Given the description of an element on the screen output the (x, y) to click on. 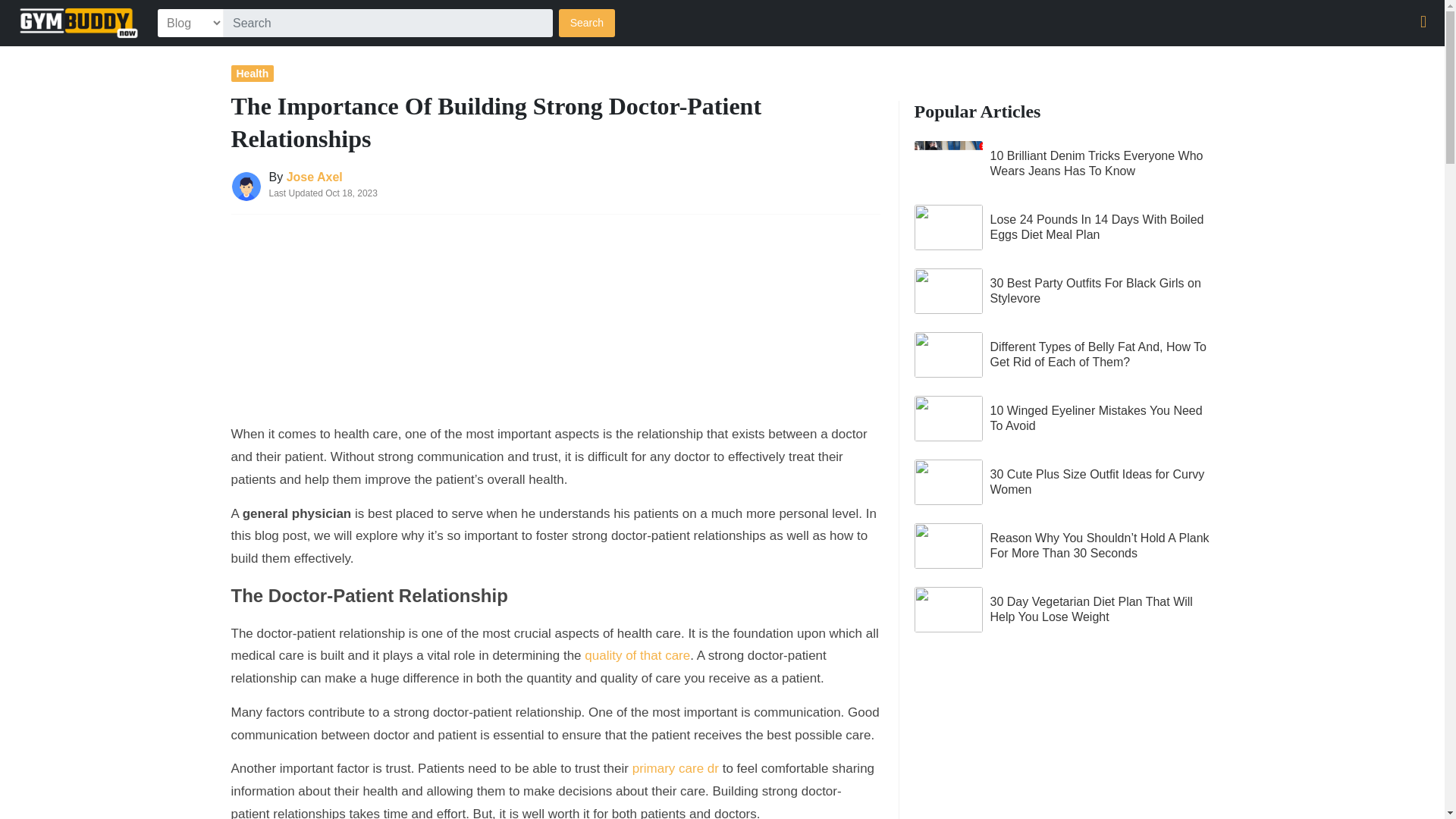
Lose 24 Pounds In 14 Days With Boiled Eggs Diet Meal Plan (1064, 227)
30 Cute Plus Size Outfit Ideas for Curvy Women (1064, 482)
10 Winged Eyeliner Mistakes You Need To Avoid (1064, 418)
30 Day Vegetarian Diet Plan That Will Help You Lose Weight (1064, 609)
Jose Axel (314, 176)
Search (586, 22)
30 Best Party Outfits For Black Girls on Stylevore (1064, 290)
quality of that care (637, 655)
primary care dr (675, 768)
